Given the description of an element on the screen output the (x, y) to click on. 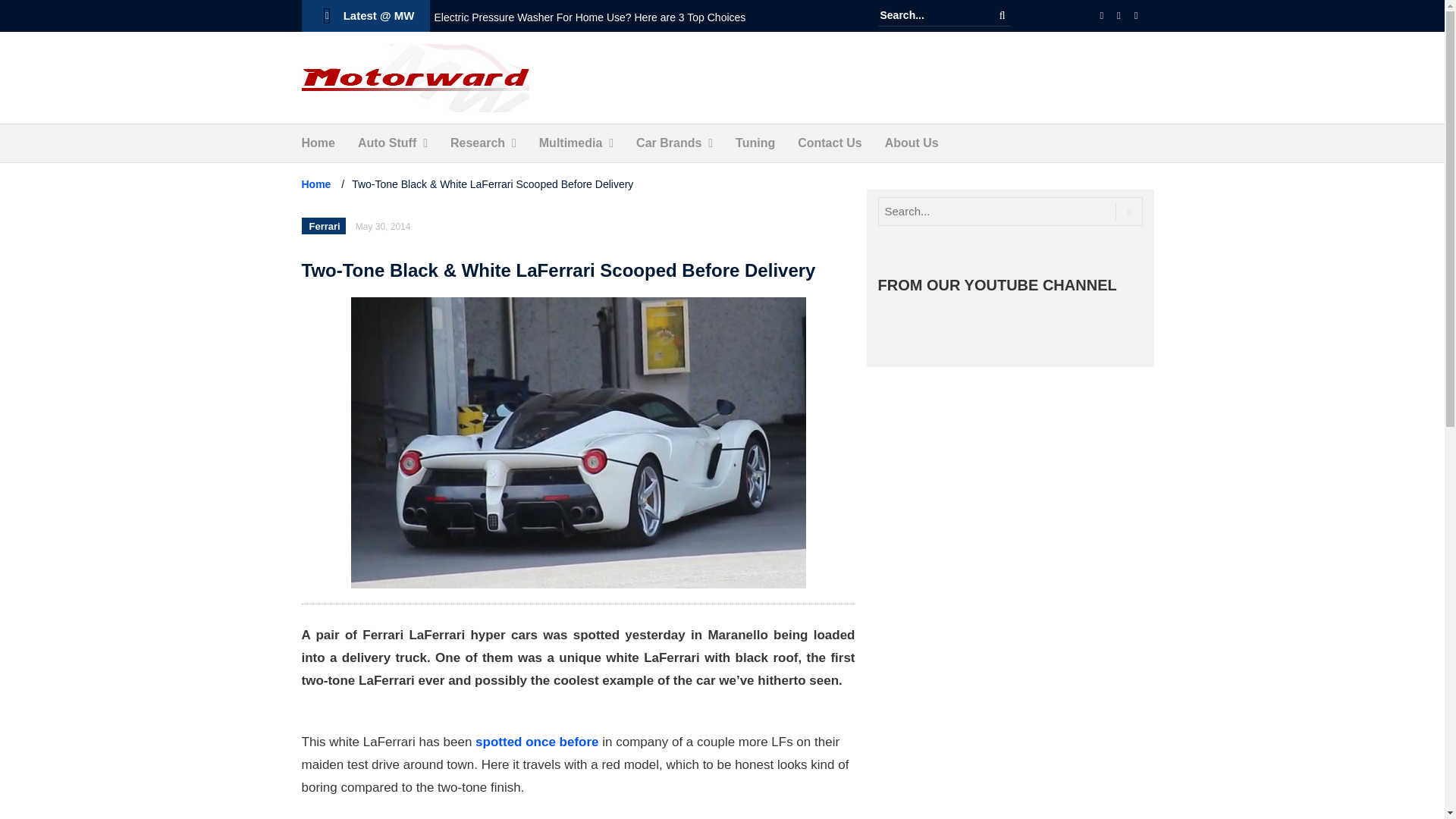
Research (477, 143)
white laferrari 0 600x384 (577, 442)
Multimedia (570, 143)
Home (317, 143)
Auto Stuff (387, 143)
Car Brands (668, 143)
Search   (1002, 14)
